Given the description of an element on the screen output the (x, y) to click on. 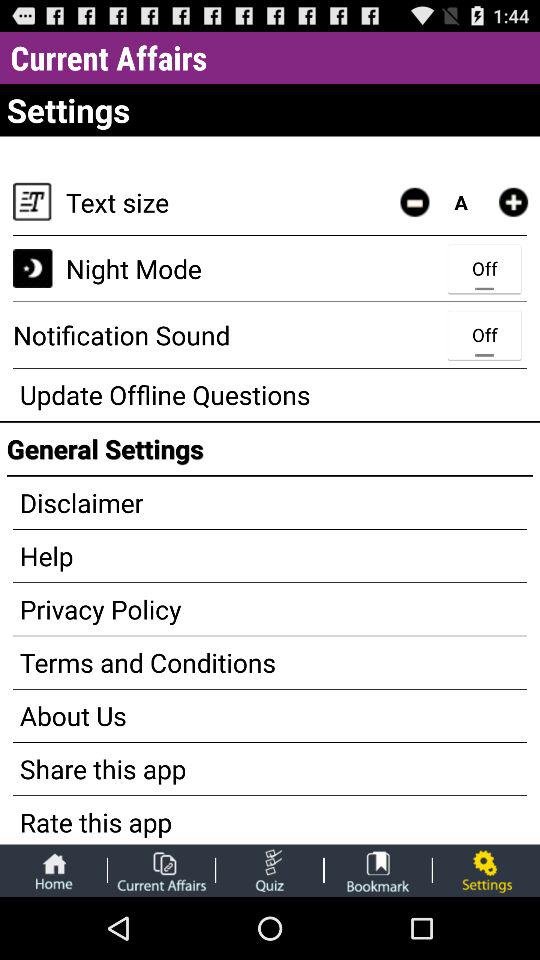
turn off the update offline questions (270, 394)
